Given the description of an element on the screen output the (x, y) to click on. 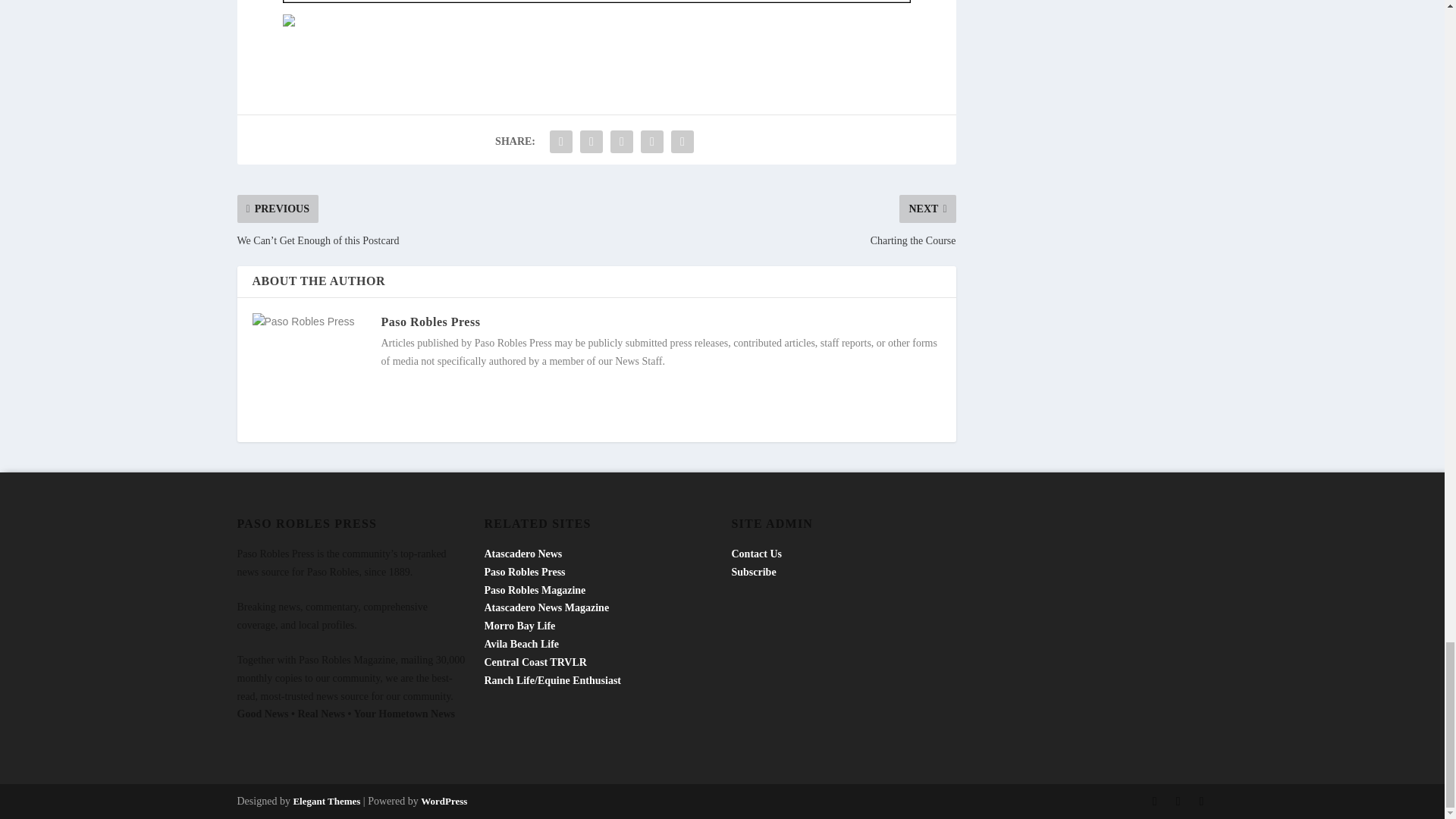
Paso Robles Press (430, 321)
